Given the description of an element on the screen output the (x, y) to click on. 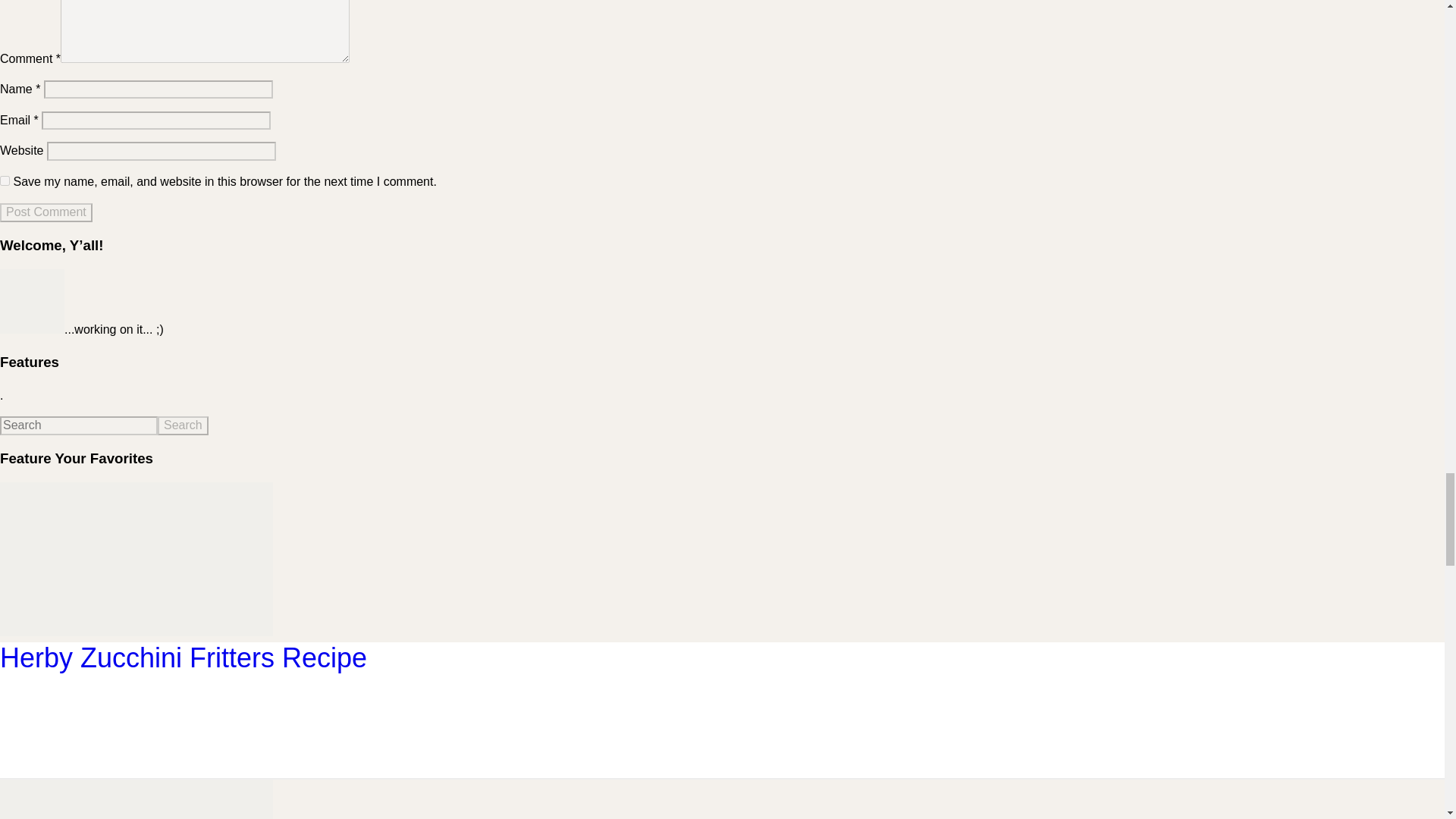
Post Comment (46, 212)
Search (182, 425)
Post Comment (46, 212)
Herby Zucchini Fritters Recipe (183, 657)
yes (5, 180)
Search (182, 425)
Search (182, 425)
Herby Zucchini Fritters Recipe (136, 631)
